Given the description of an element on the screen output the (x, y) to click on. 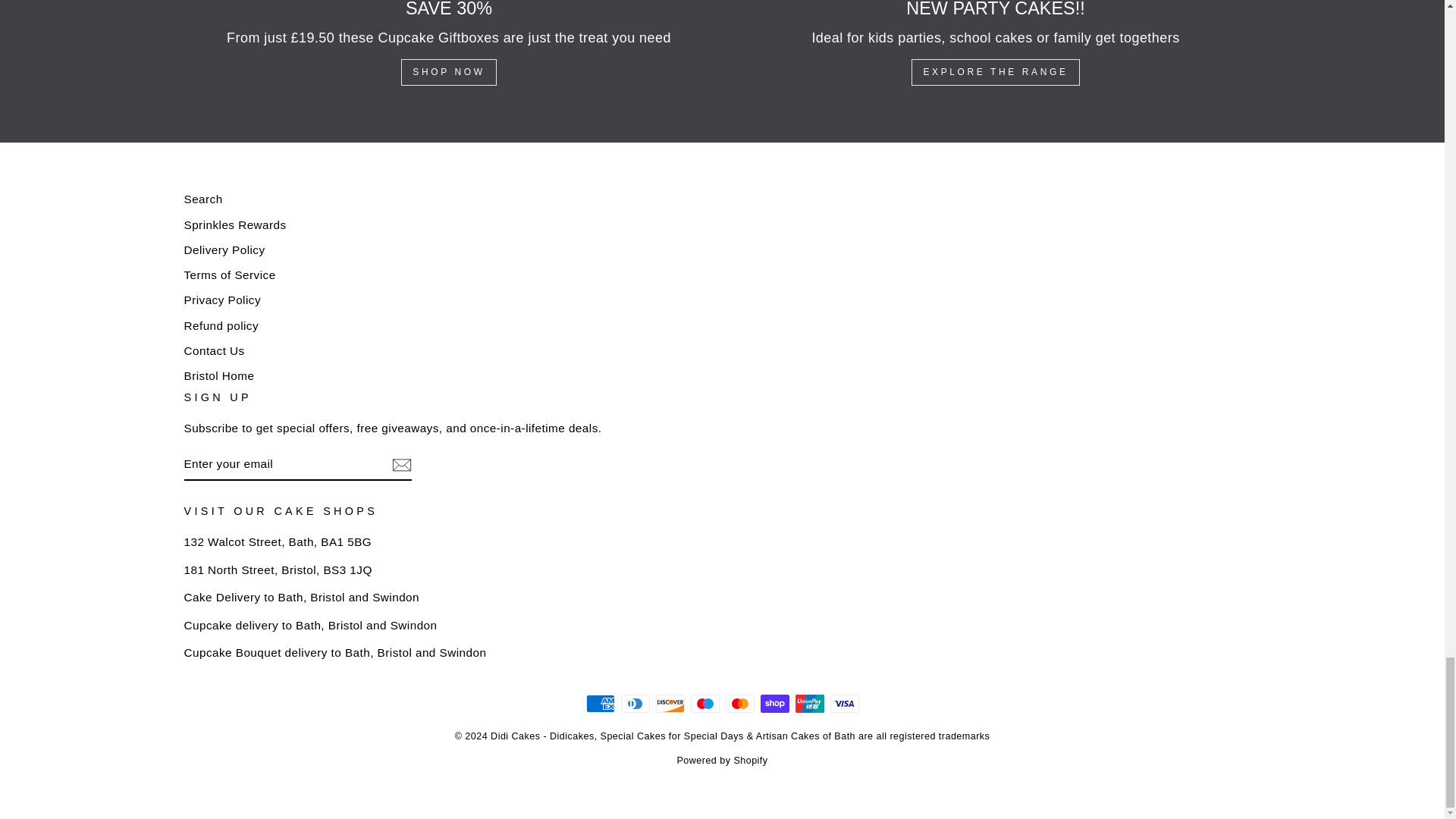
Discover (669, 703)
American Express (599, 703)
Maestro (704, 703)
Mastercard (739, 703)
Diners Club (634, 703)
